Given the description of an element on the screen output the (x, y) to click on. 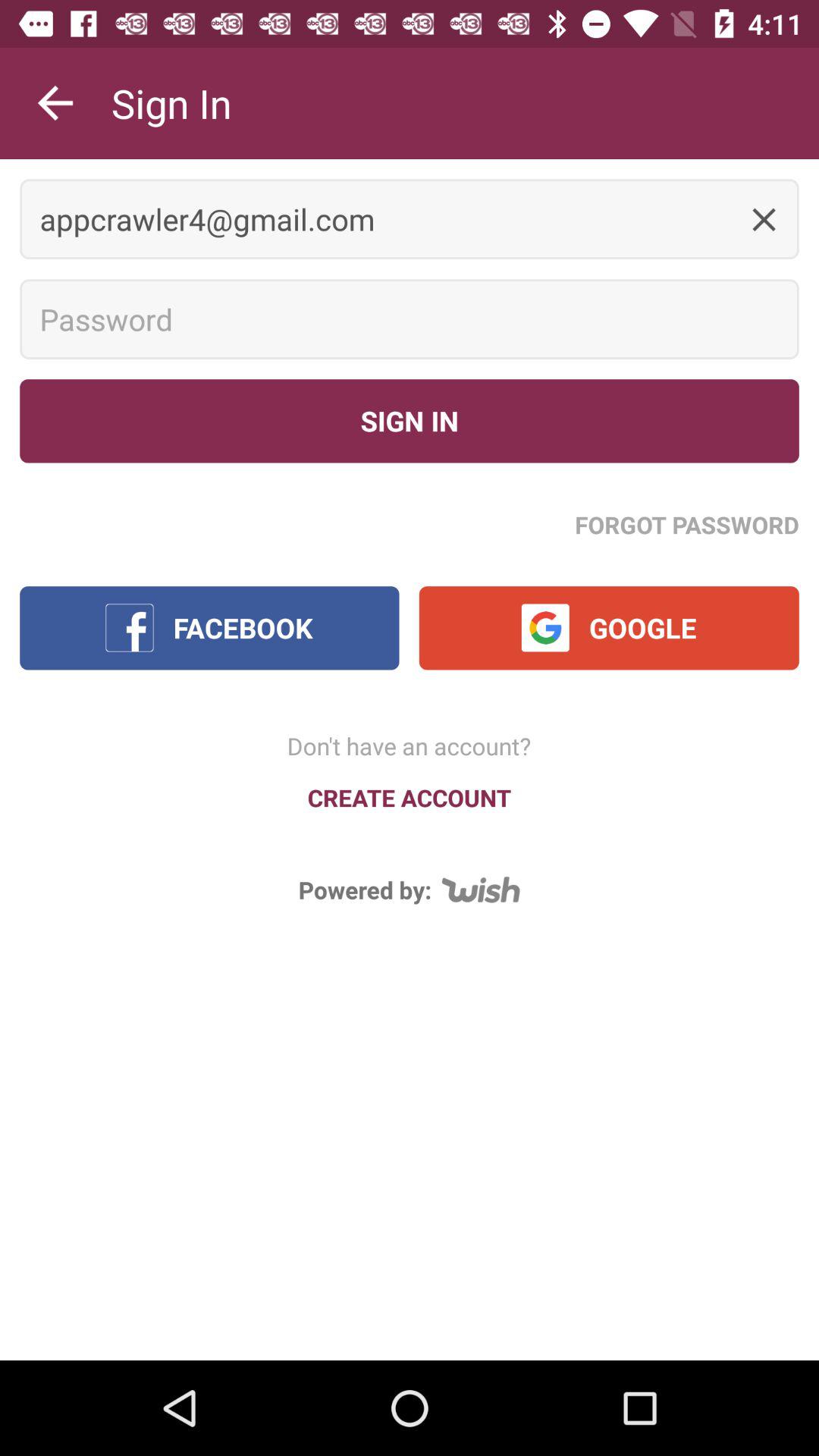
flip to the appcrawler4@gmail.com icon (409, 219)
